Given the description of an element on the screen output the (x, y) to click on. 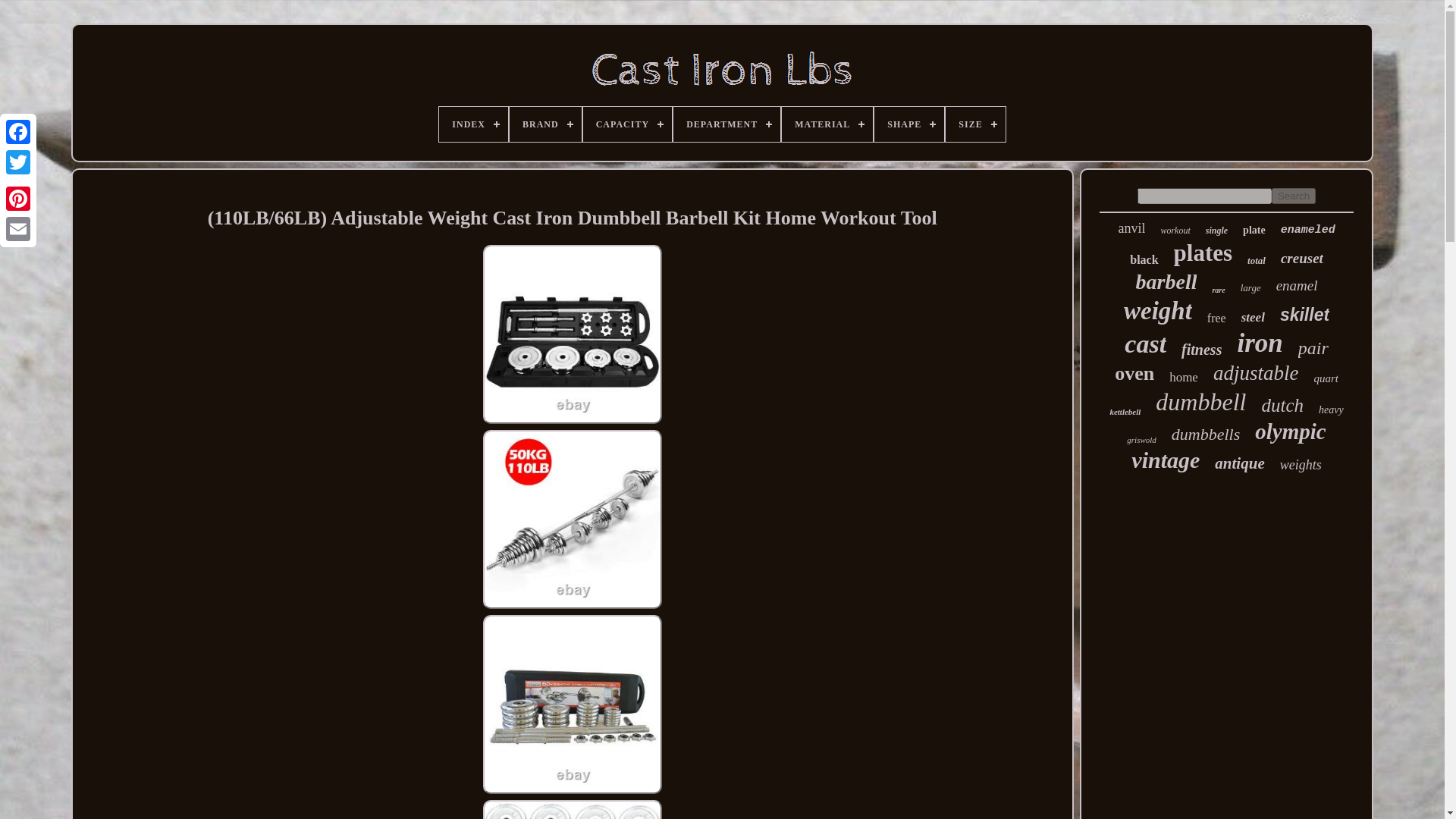
BRAND (544, 124)
Facebook (17, 132)
INDEX (473, 124)
Search (1293, 195)
CAPACITY (627, 124)
